Given the description of an element on the screen output the (x, y) to click on. 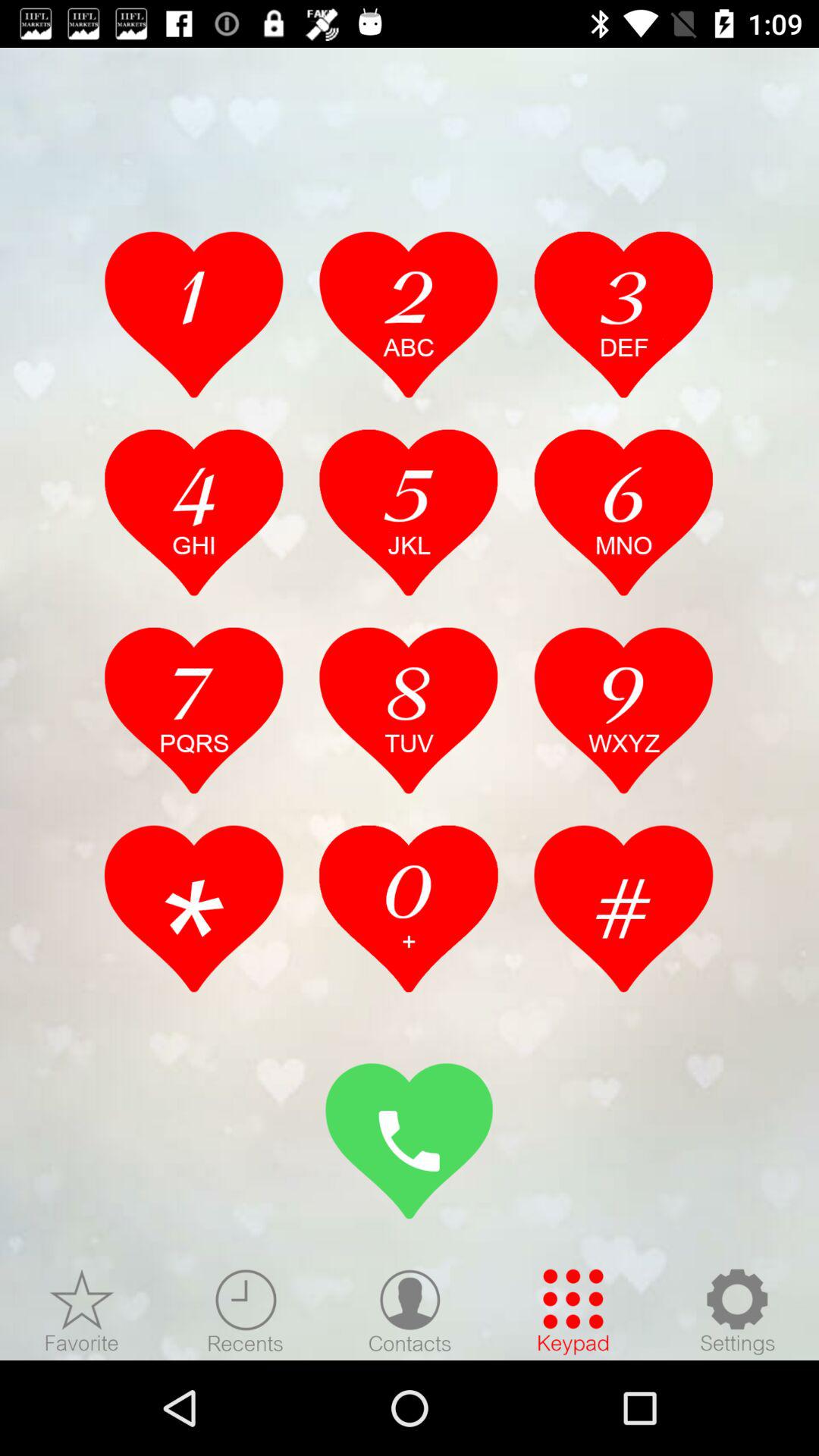
keypad is used to dial the number (573, 1311)
